Given the description of an element on the screen output the (x, y) to click on. 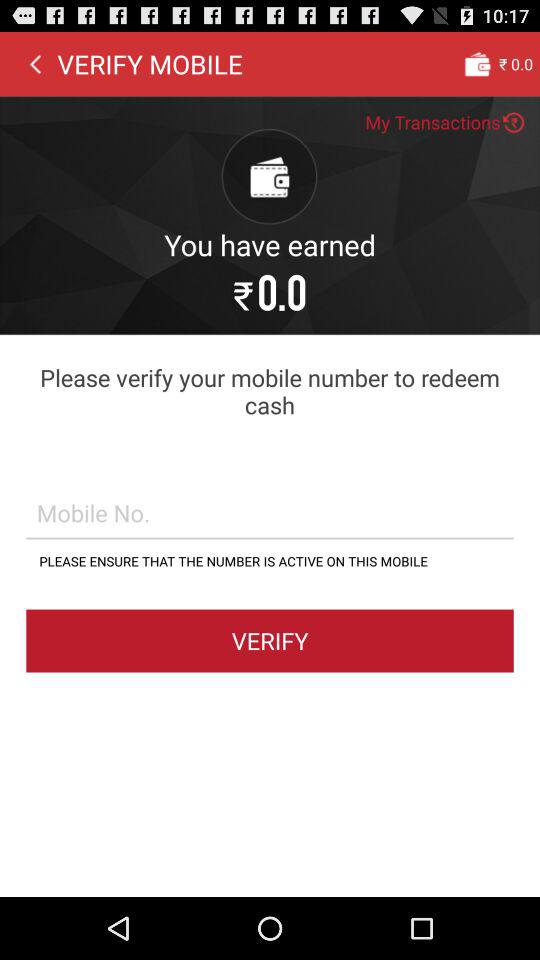
press the app next to verify mobile item (477, 63)
